Given the description of an element on the screen output the (x, y) to click on. 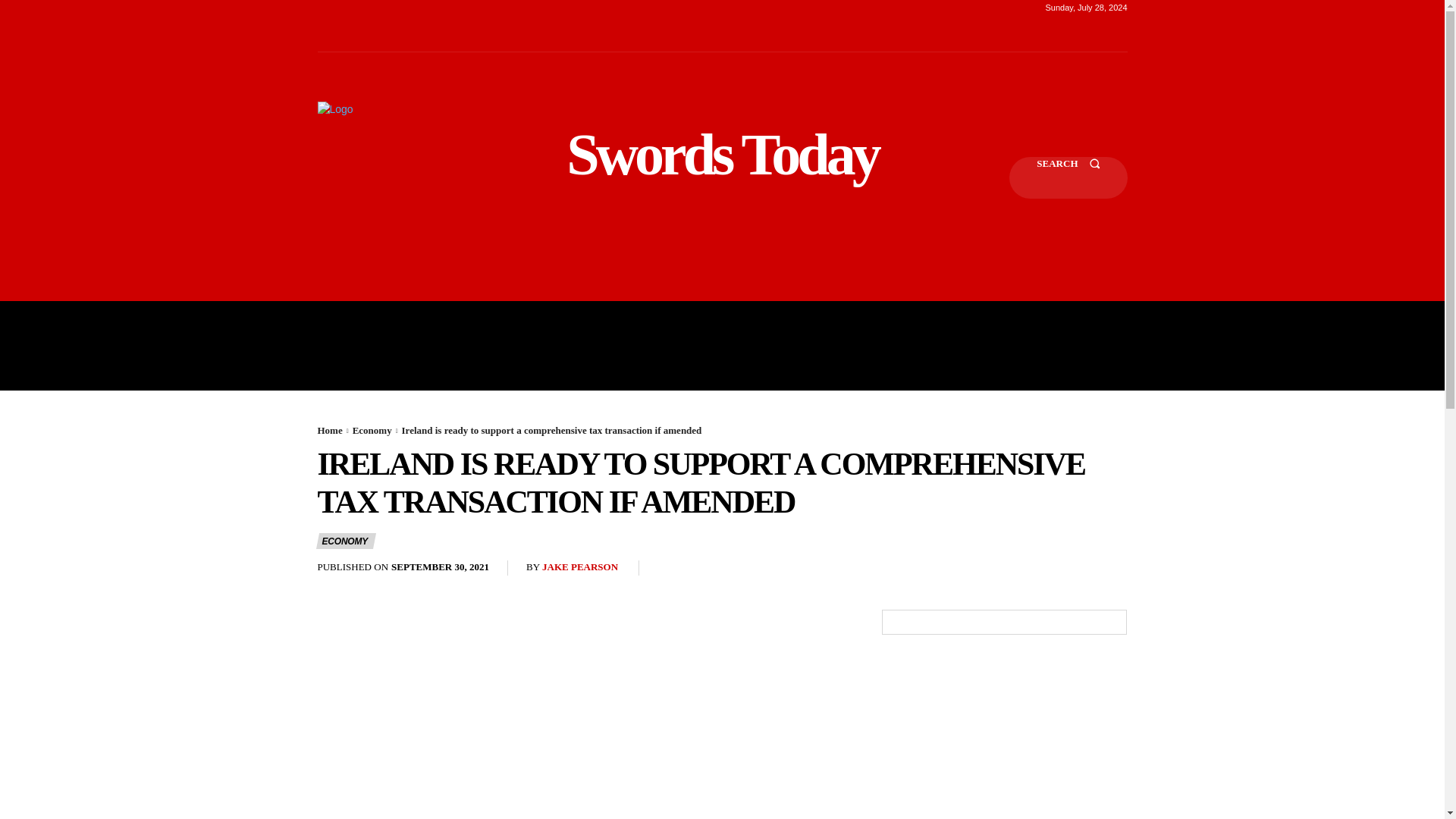
Search (1067, 178)
Home (329, 430)
Economy (371, 430)
SEARCH (1067, 178)
Swords Today (722, 154)
View all posts in Economy (371, 430)
ECONOMY (345, 540)
JAKE PEARSON (579, 567)
